Given the description of an element on the screen output the (x, y) to click on. 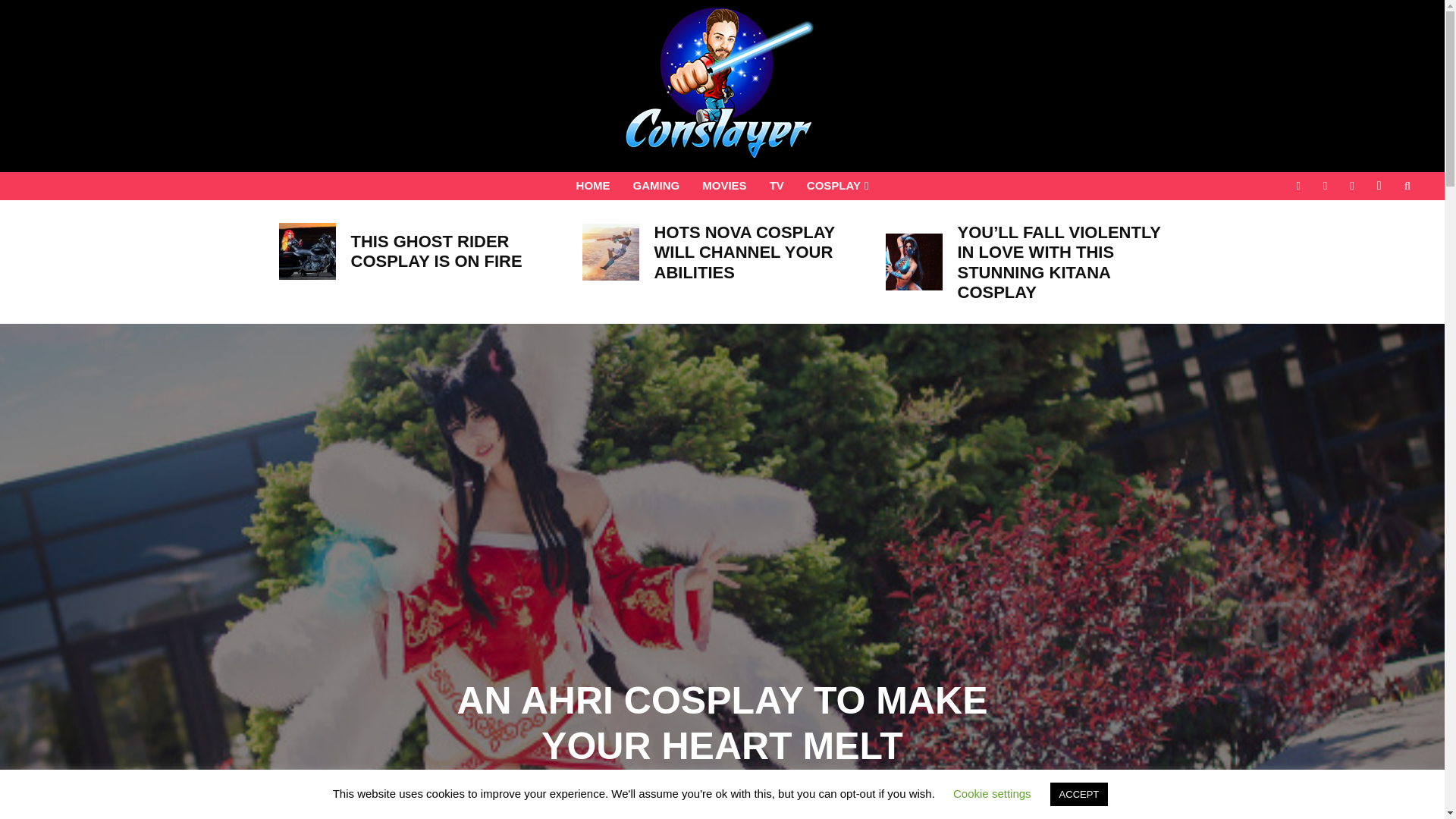
HOME (592, 185)
COSPLAY (837, 185)
TV (776, 185)
MOVIES (723, 185)
GAMING (656, 185)
